Given the description of an element on the screen output the (x, y) to click on. 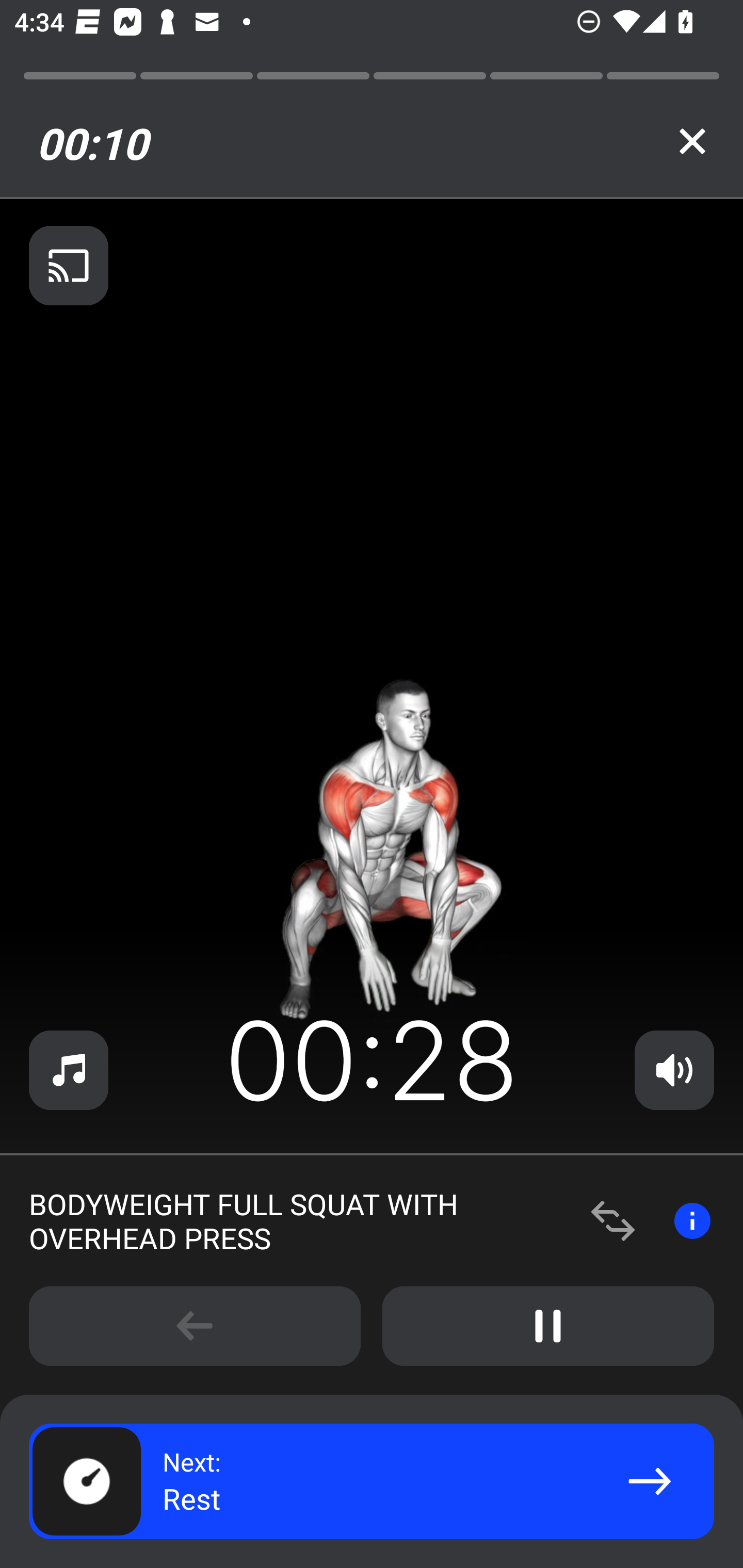
Next: Rest (371, 1481)
